Given the description of an element on the screen output the (x, y) to click on. 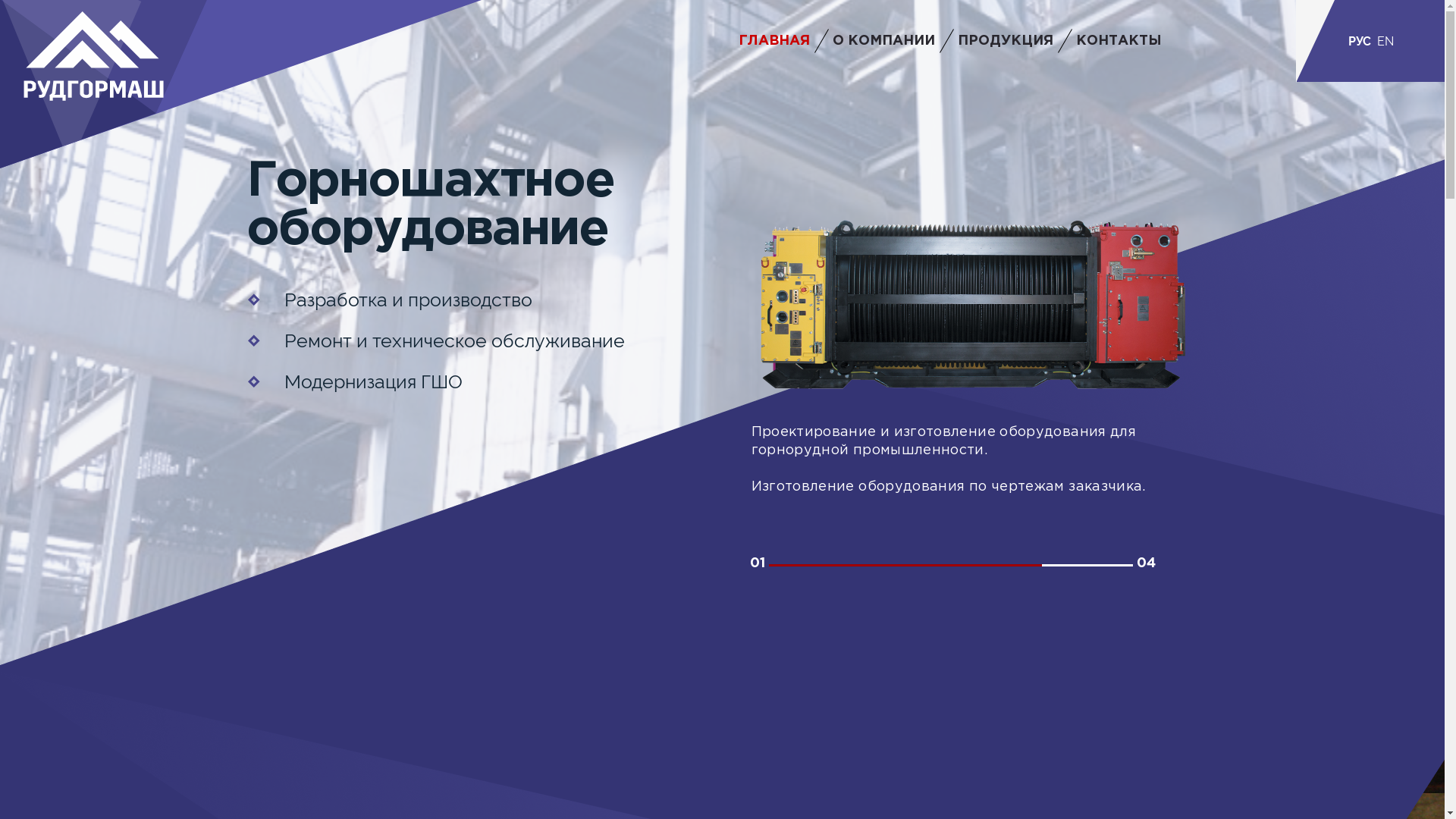
1 Element type: text (813, 565)
2 Element type: text (904, 565)
4 Element type: text (1086, 565)
3 Element type: text (995, 565)
EN Element type: text (1385, 40)
